Given the description of an element on the screen output the (x, y) to click on. 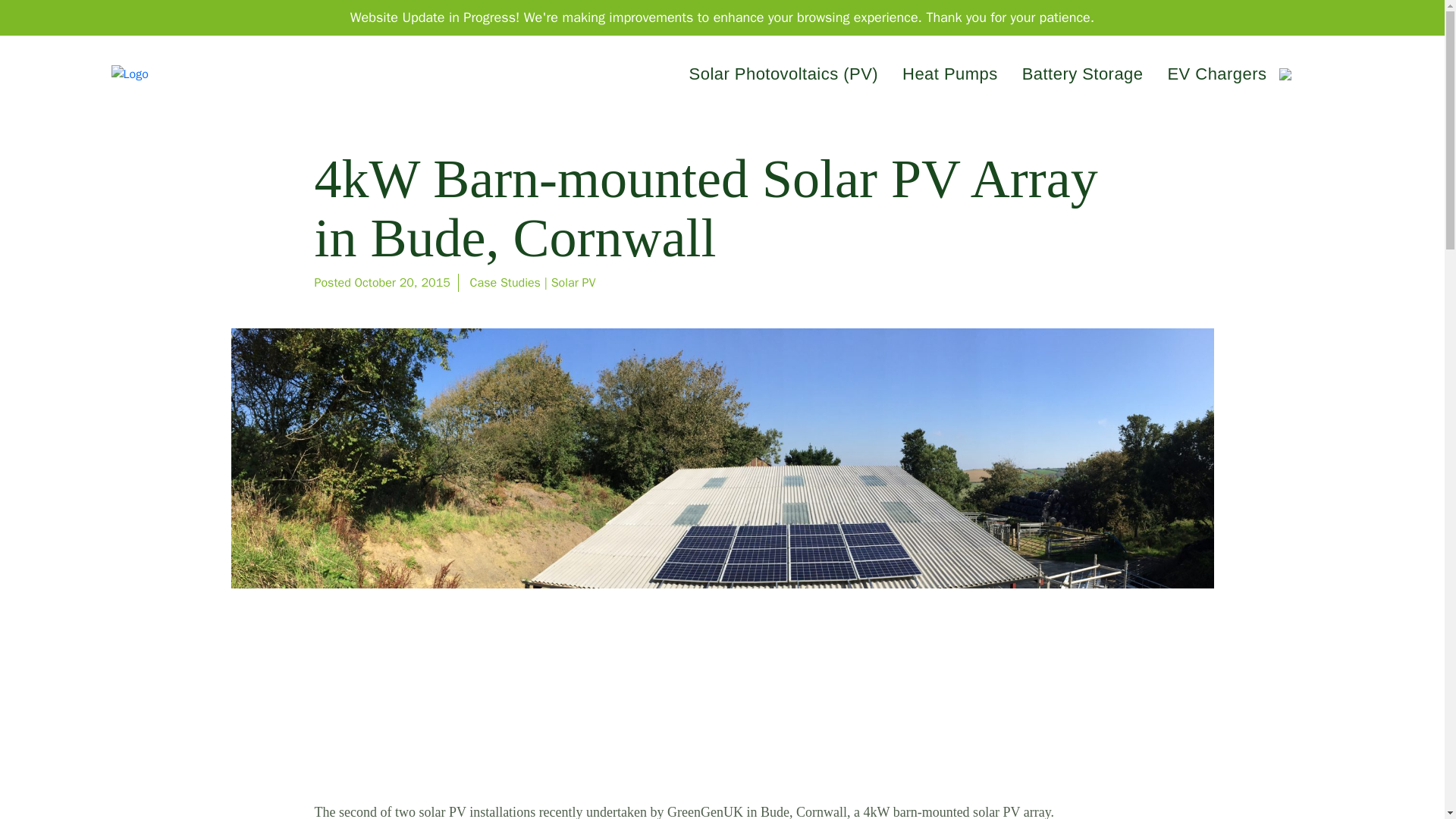
Case Studies (505, 282)
Solar PV (573, 282)
Battery Storage (1083, 73)
EV Chargers (1216, 73)
Heat Pumps (949, 73)
